Given the description of an element on the screen output the (x, y) to click on. 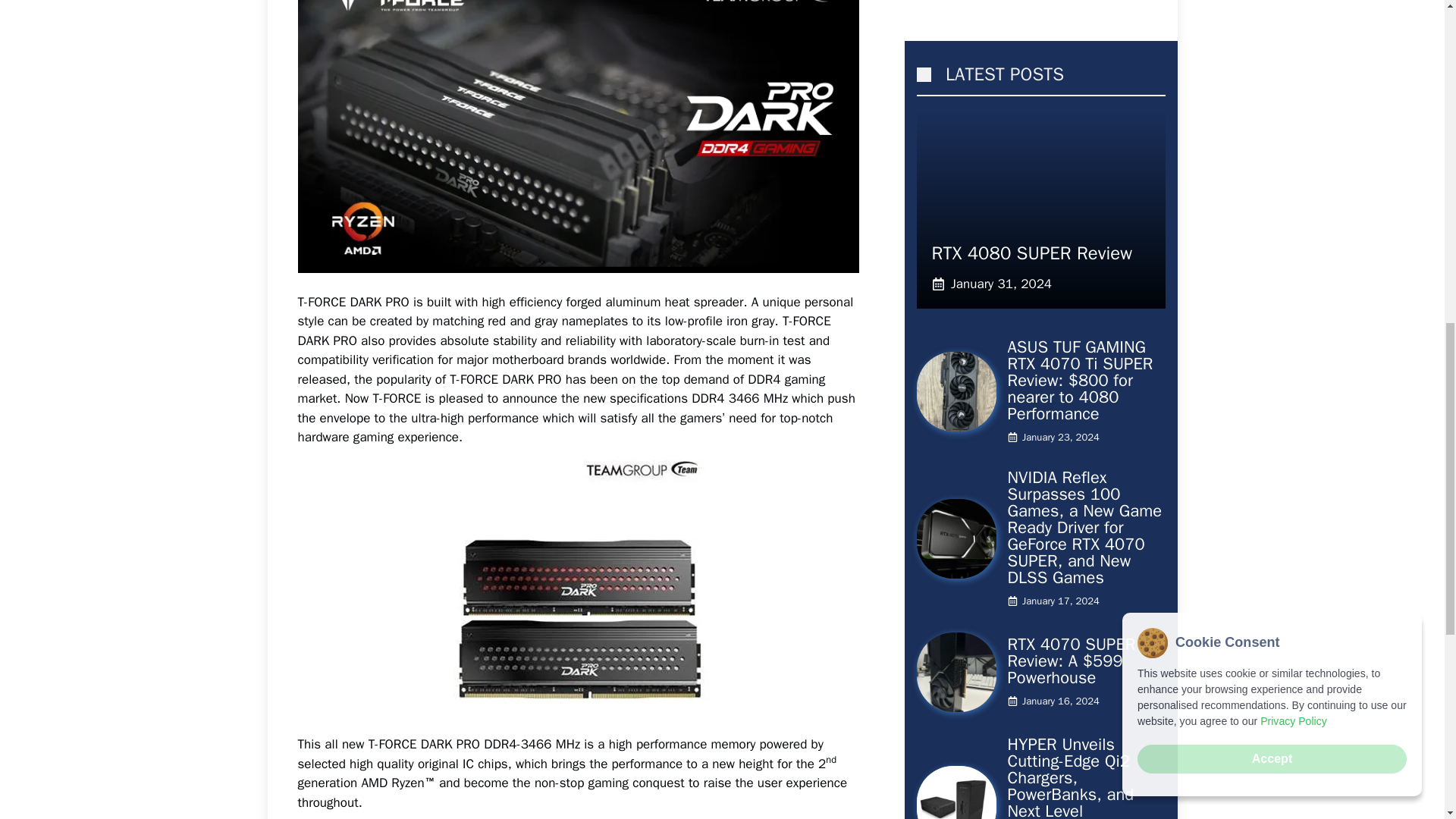
Scroll back to top (1406, 720)
